Given the description of an element on the screen output the (x, y) to click on. 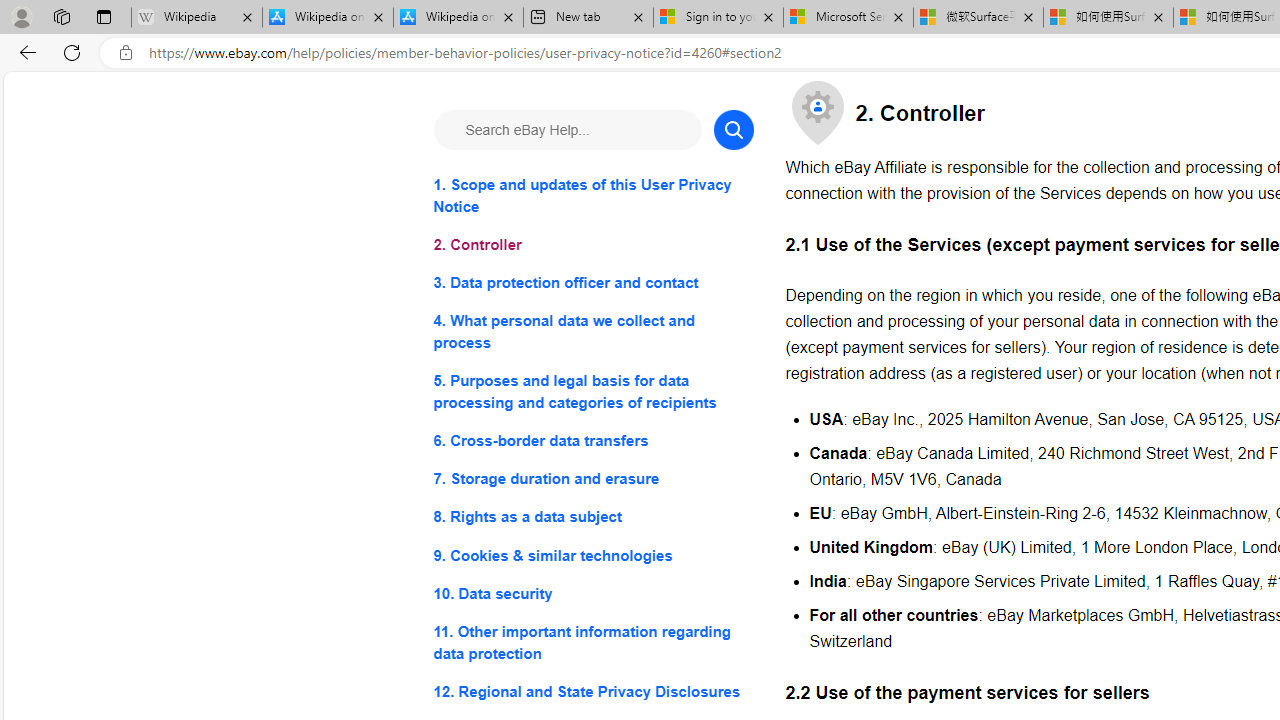
7. Storage duration and erasure (592, 479)
1. Scope and updates of this User Privacy Notice (592, 196)
3. Data protection officer and contact (592, 283)
10. Data security (592, 592)
7. Storage duration and erasure (592, 479)
2. Controller (592, 245)
9. Cookies & similar technologies (592, 555)
6. Cross-border data transfers (592, 440)
8. Rights as a data subject (592, 517)
